Given the description of an element on the screen output the (x, y) to click on. 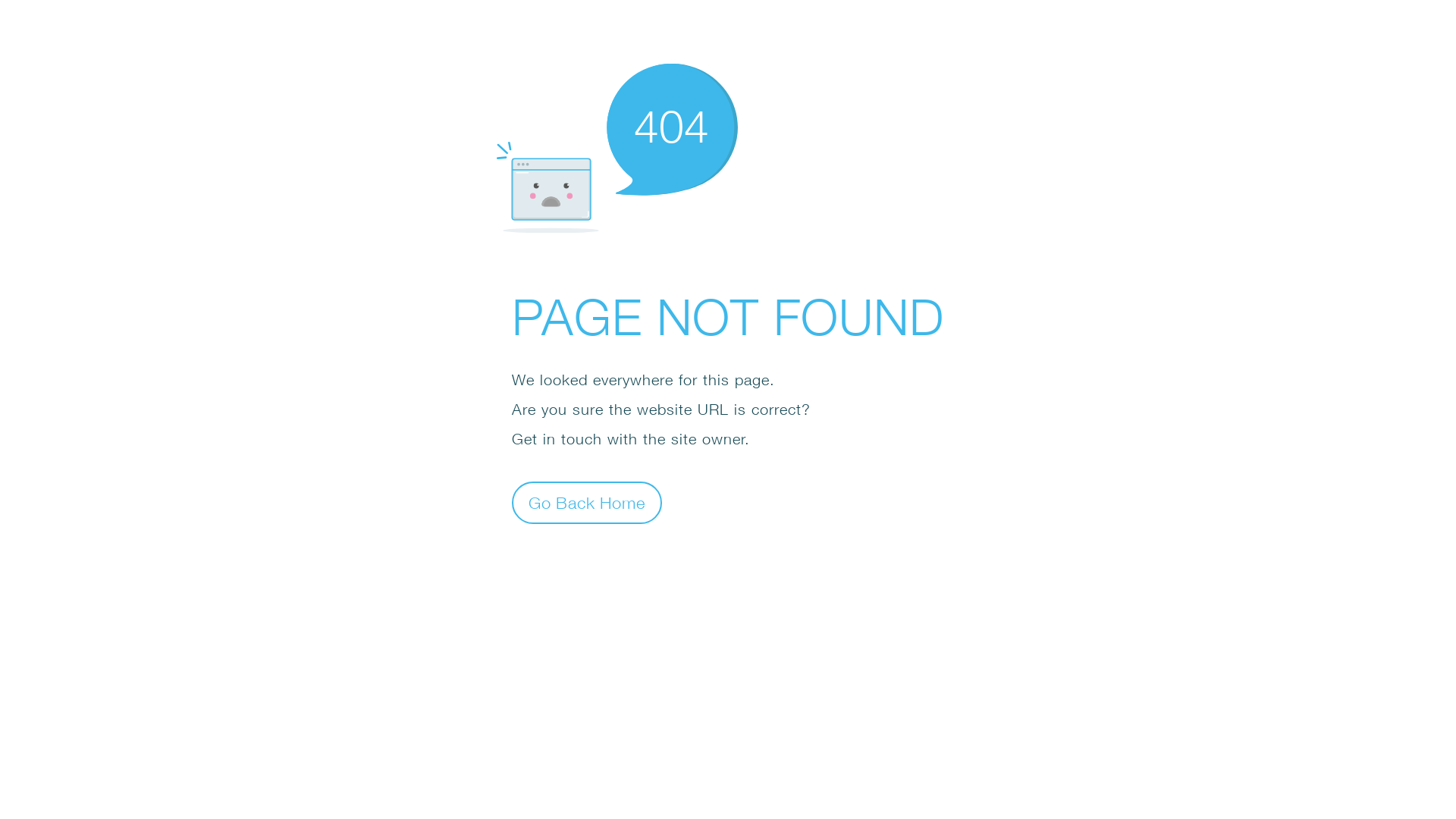
Go Back Home Element type: text (586, 502)
